Given the description of an element on the screen output the (x, y) to click on. 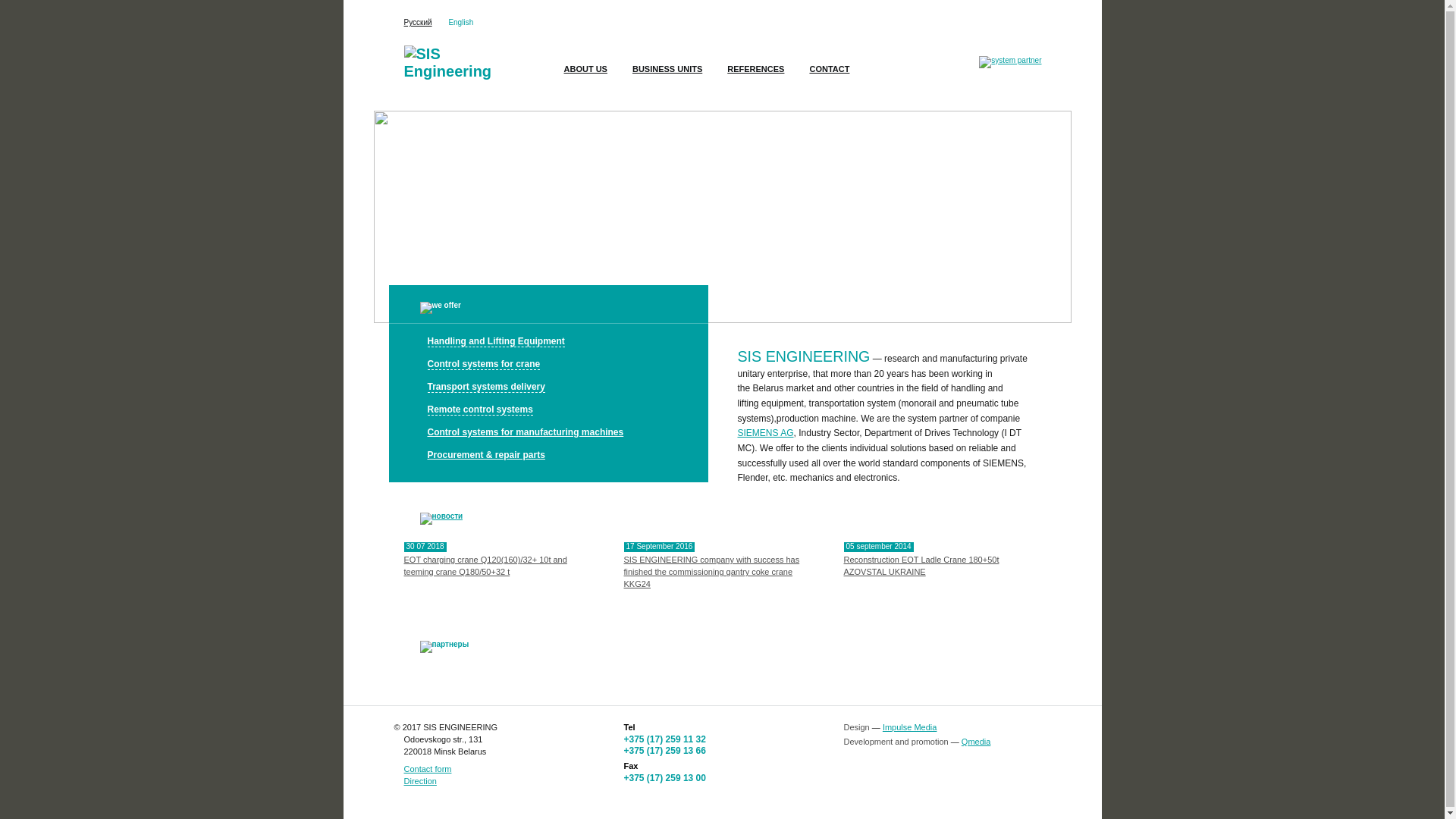
BUSINESS UNITS Element type: text (667, 73)
Development and promotion Element type: text (895, 741)
Transport systems delivery Element type: text (548, 387)
Impulse Media Element type: text (909, 726)
Reconstruction EOT Ladle Crane 180+50t AZOVSTAL UKRAINE Element type: text (920, 565)
Handling and Lifting Equipment Element type: text (548, 341)
Contact form Element type: text (427, 768)
SIEMENS AG Element type: text (765, 432)
Direction Element type: text (419, 780)
Control systems for crane Element type: text (548, 364)
Design Element type: text (856, 726)
Control systems for manufacturing machines Element type: text (548, 432)
Remote control systems Element type: text (548, 409)
REFERENCES Element type: text (755, 73)
ABOUT US Element type: text (585, 73)
Procurement & repair parts Element type: text (548, 455)
Qmedia Element type: text (976, 741)
CONTACT Element type: text (829, 73)
